Given the description of an element on the screen output the (x, y) to click on. 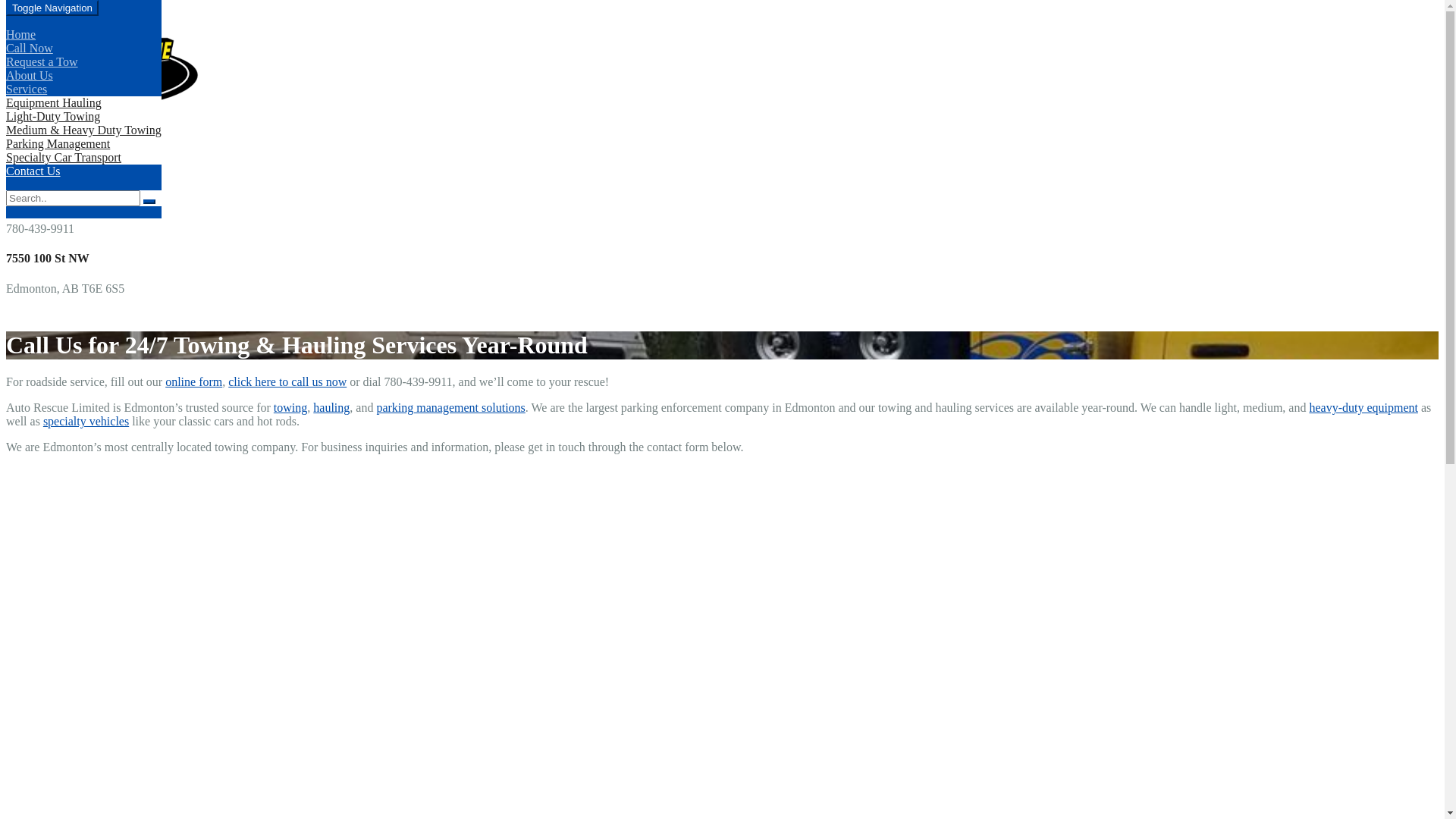
Services Element type: text (26, 88)
Contact Us Element type: text (33, 170)
specialty vehicles Element type: text (85, 420)
Toggle Navigation Element type: text (52, 7)
Home Element type: text (20, 34)
Request a Tow Element type: text (42, 61)
Call Now Element type: text (29, 47)
online form Element type: text (193, 381)
click here to call us now Element type: text (287, 381)
parking management solutions Element type: text (450, 407)
towing Element type: text (290, 407)
Specialty Car Transport Element type: text (63, 156)
heavy-duty equipment Element type: text (1363, 407)
Equipment Hauling Element type: text (53, 102)
About Us Element type: text (29, 75)
Parking Management Element type: text (57, 143)
Medium & Heavy Duty Towing Element type: text (83, 129)
hauling Element type: text (331, 407)
Light-Duty Towing Element type: text (53, 115)
